Given the description of an element on the screen output the (x, y) to click on. 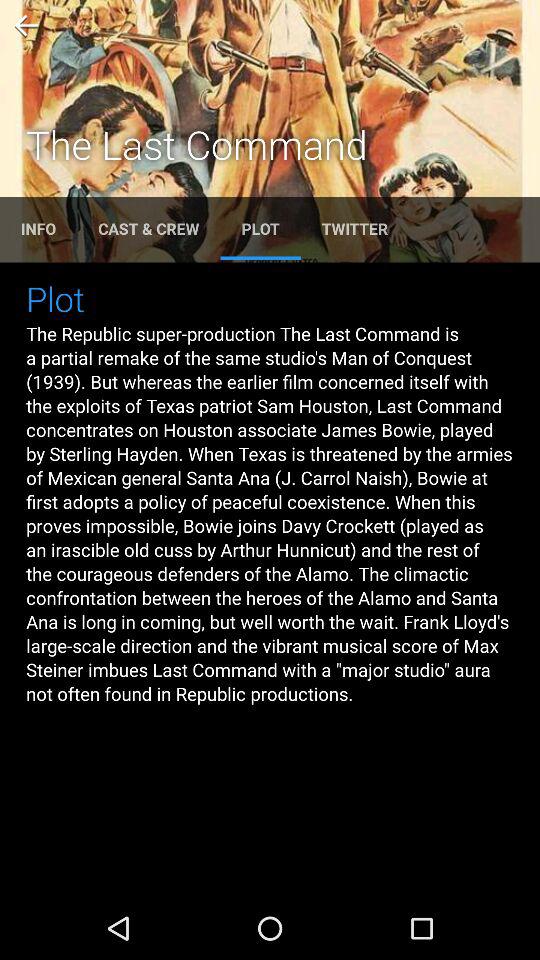
select the text plot (260, 228)
select the text cast  crew (148, 228)
